Given the description of an element on the screen output the (x, y) to click on. 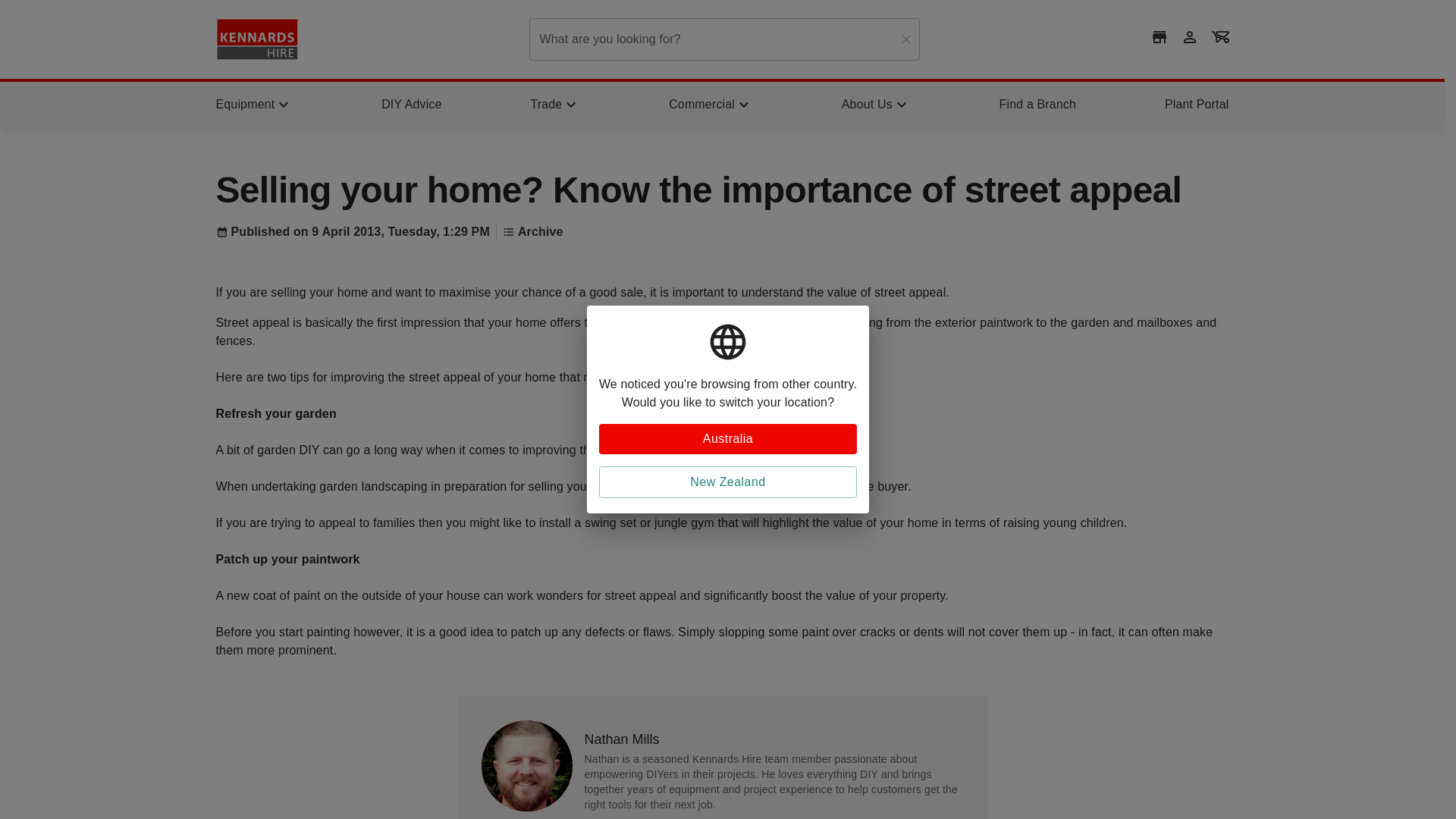
Find a Branch (1037, 104)
DIY Advice (411, 104)
Plant Portal (1196, 104)
